Given the description of an element on the screen output the (x, y) to click on. 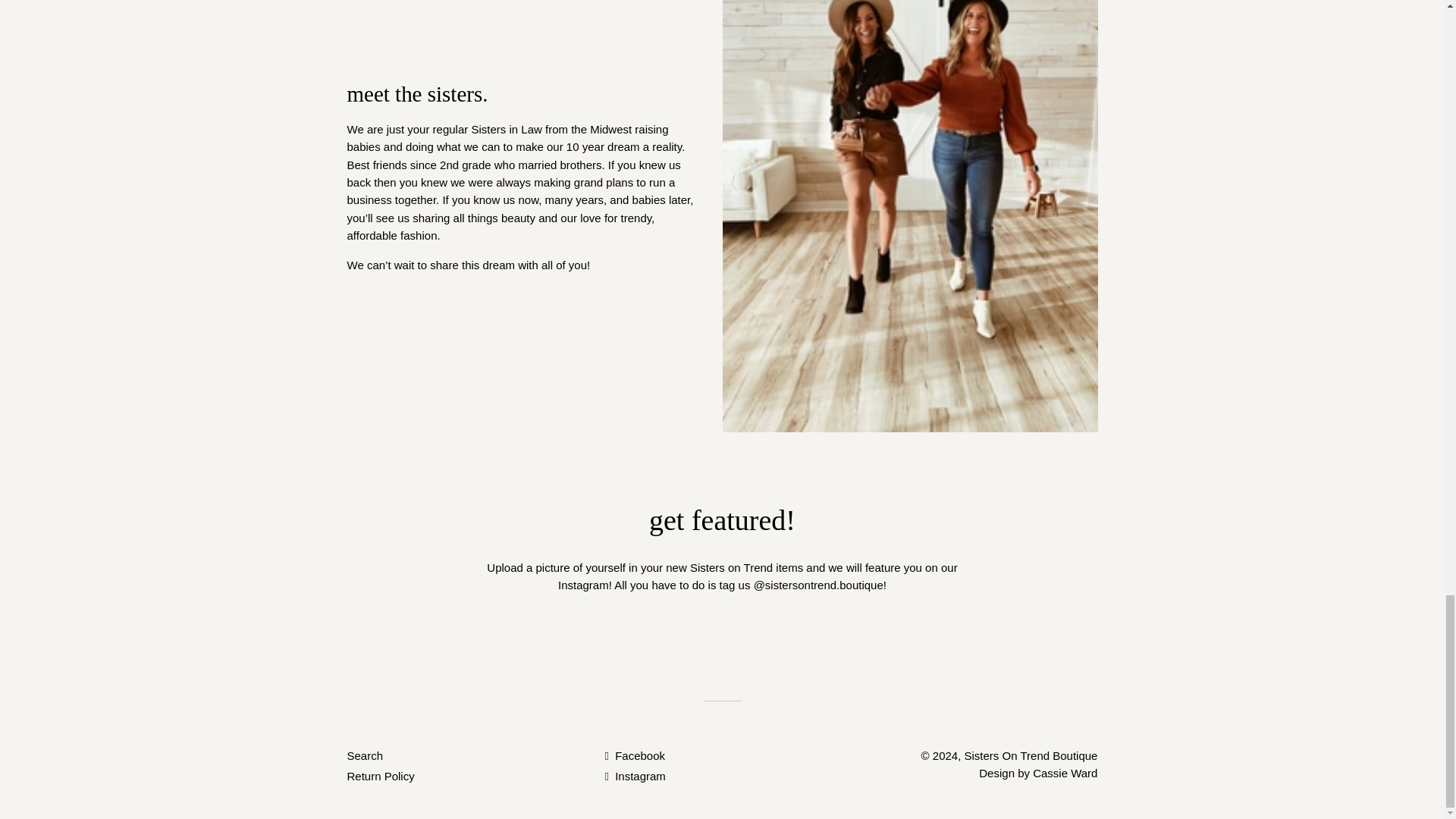
Design by Cassie Ward (1037, 772)
Facebook (634, 755)
Sisters On Trend Boutique (1030, 755)
Search (365, 755)
Sisters On Trend Boutique on Facebook (634, 755)
Return Policy (380, 775)
Instagram (634, 775)
Sisters On Trend Boutique on Instagram (634, 775)
